Given the description of an element on the screen output the (x, y) to click on. 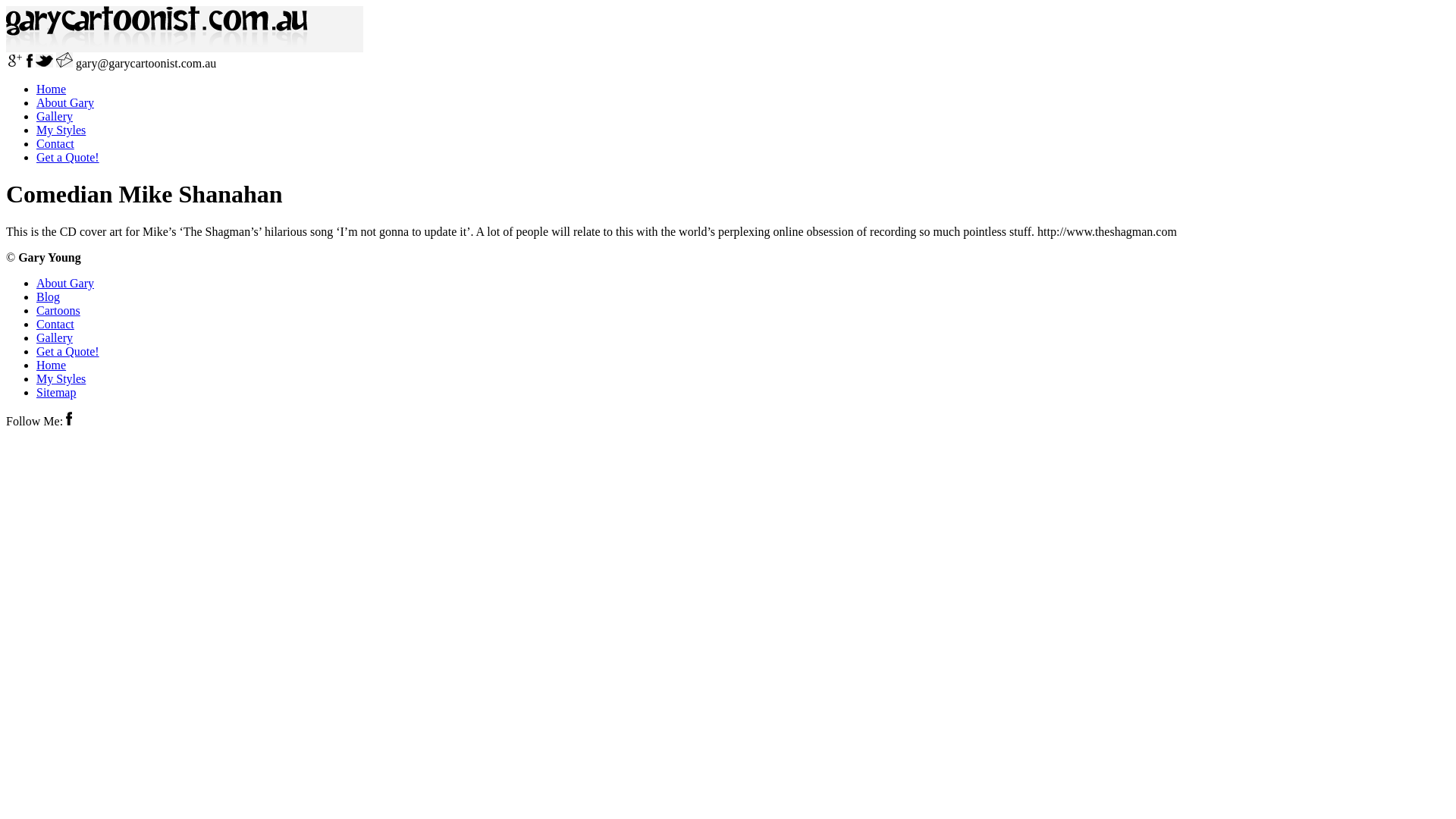
Sitemap Element type: text (55, 391)
Gallery Element type: text (54, 115)
Gallery Element type: text (54, 337)
About Gary Element type: text (65, 102)
gary@garycartoonist.com.au Element type: text (145, 62)
My Styles Element type: text (60, 129)
Home Element type: text (50, 88)
Contact Element type: text (55, 143)
Get a Quote! Element type: text (67, 156)
Home Element type: text (50, 364)
Contact Element type: text (55, 323)
About Gary Element type: text (65, 282)
Blog Element type: text (47, 296)
My Styles Element type: text (60, 378)
Cartoons Element type: text (58, 310)
Get a Quote! Element type: text (67, 351)
